Given the description of an element on the screen output the (x, y) to click on. 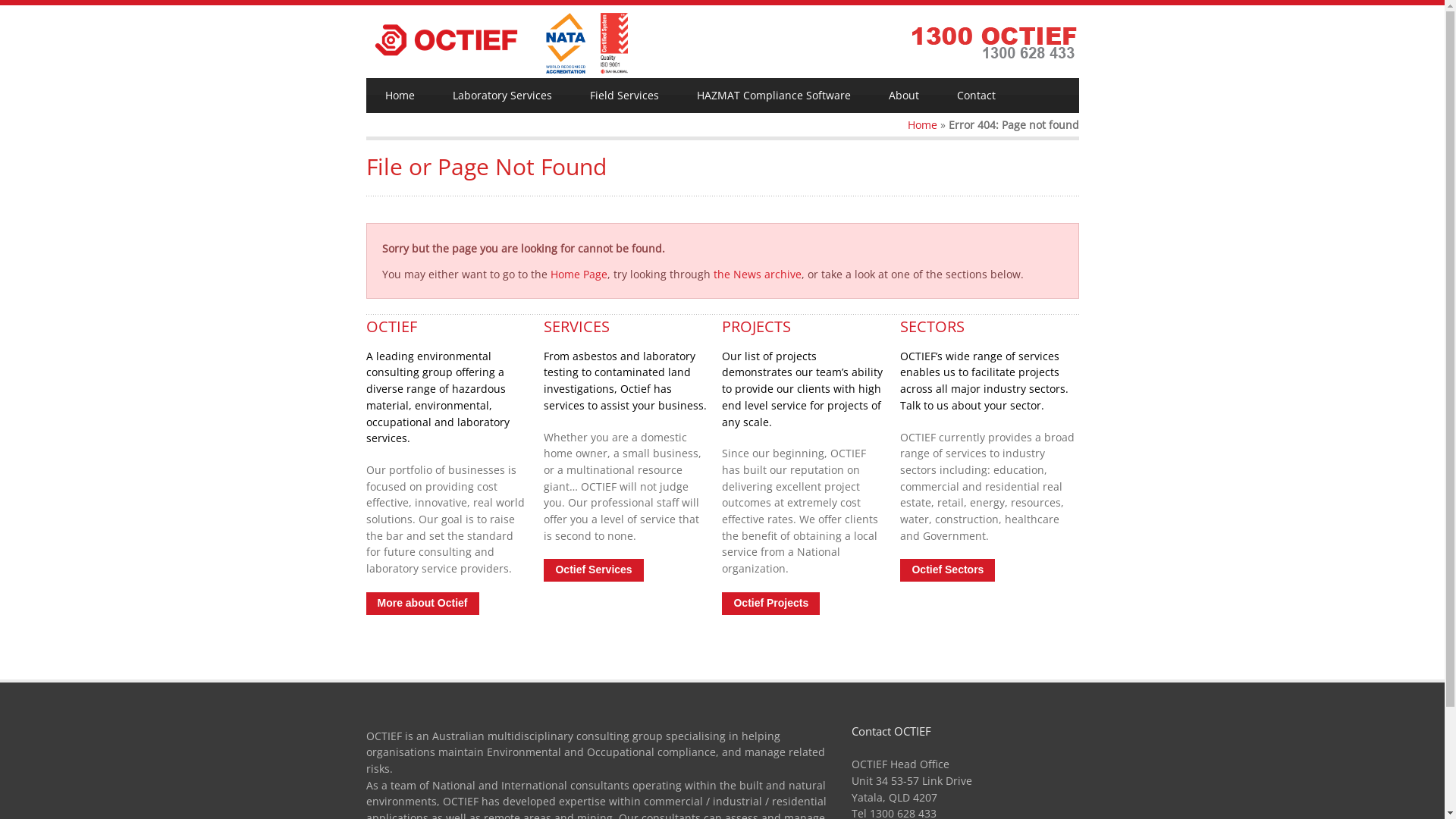
Octief Services Element type: text (593, 569)
Home Element type: text (921, 124)
Home Page Element type: text (578, 273)
Octief Projects Element type: text (770, 603)
PROJECTS Element type: text (755, 326)
HAZMAT Compliance Software Element type: text (773, 95)
SECTORS Element type: text (932, 326)
Laboratory Services Element type: text (502, 95)
OCTIEF Element type: text (390, 326)
Octief Sectors Element type: text (947, 569)
Field Services Element type: text (623, 95)
the News archive Element type: text (756, 273)
About Element type: text (903, 95)
More about Octief Element type: text (421, 603)
SERVICES Element type: text (576, 326)
Home Element type: text (399, 95)
Contact Element type: text (975, 95)
